Given the description of an element on the screen output the (x, y) to click on. 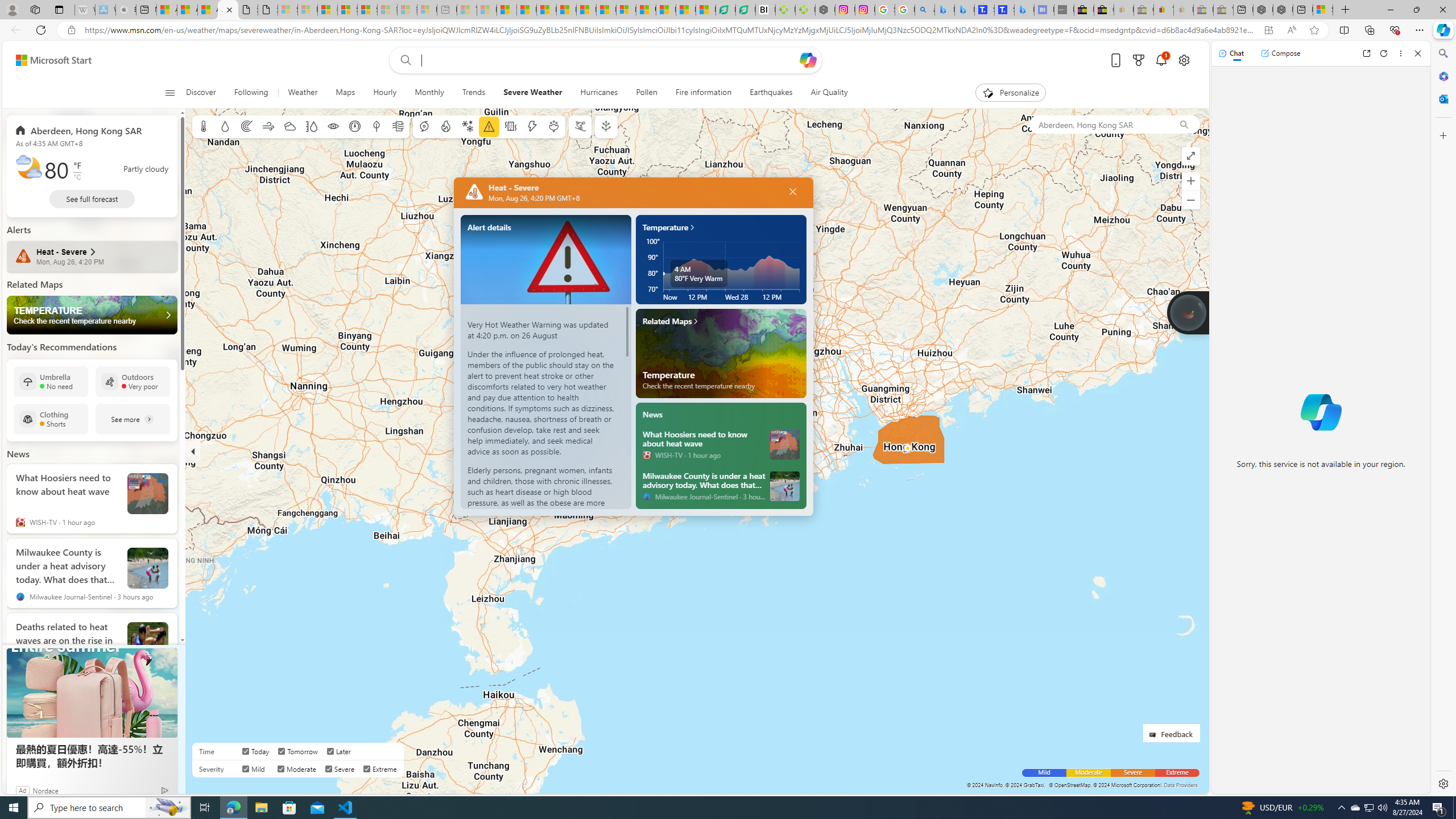
Temperature (203, 126)
Maps (344, 92)
Temperature Check the recent temperature nearby (92, 314)
Monthly (429, 92)
Data Providers (1180, 784)
Threats and offensive language policy | eBay (1162, 9)
Air Quality (823, 92)
Fire information (445, 126)
